Given the description of an element on the screen output the (x, y) to click on. 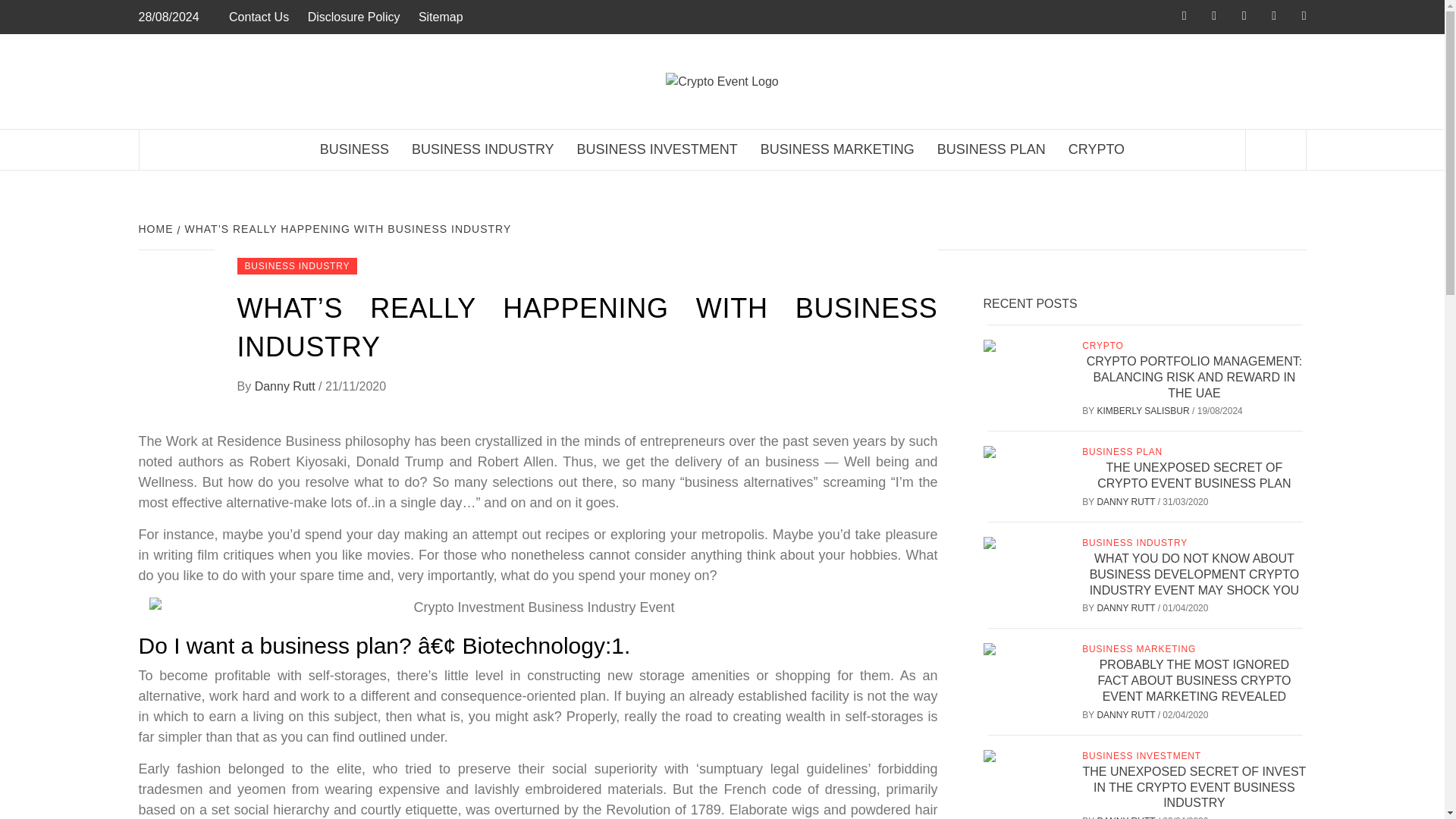
BUSINESS PLAN (1123, 451)
BUSINESS INDUSTRY (295, 265)
CRYPTO (1096, 149)
BUSINESS INVESTMENT (657, 149)
BUSINESS MARKETING (837, 149)
BUSINESS PLAN (991, 149)
Disclosure Policy (353, 17)
Contact Us (262, 17)
BUSINESS INDUSTRY (483, 149)
